Given the description of an element on the screen output the (x, y) to click on. 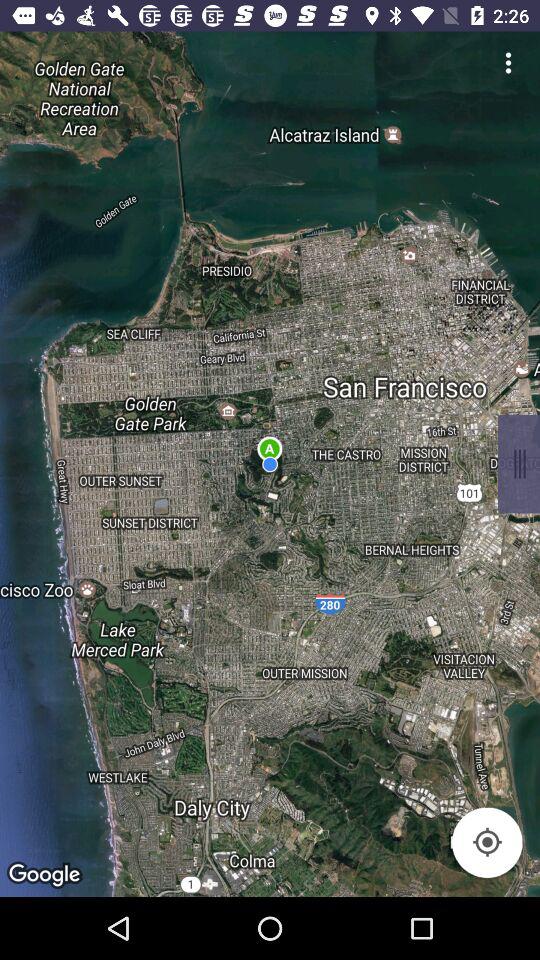
toggle side menu (508, 62)
